Given the description of an element on the screen output the (x, y) to click on. 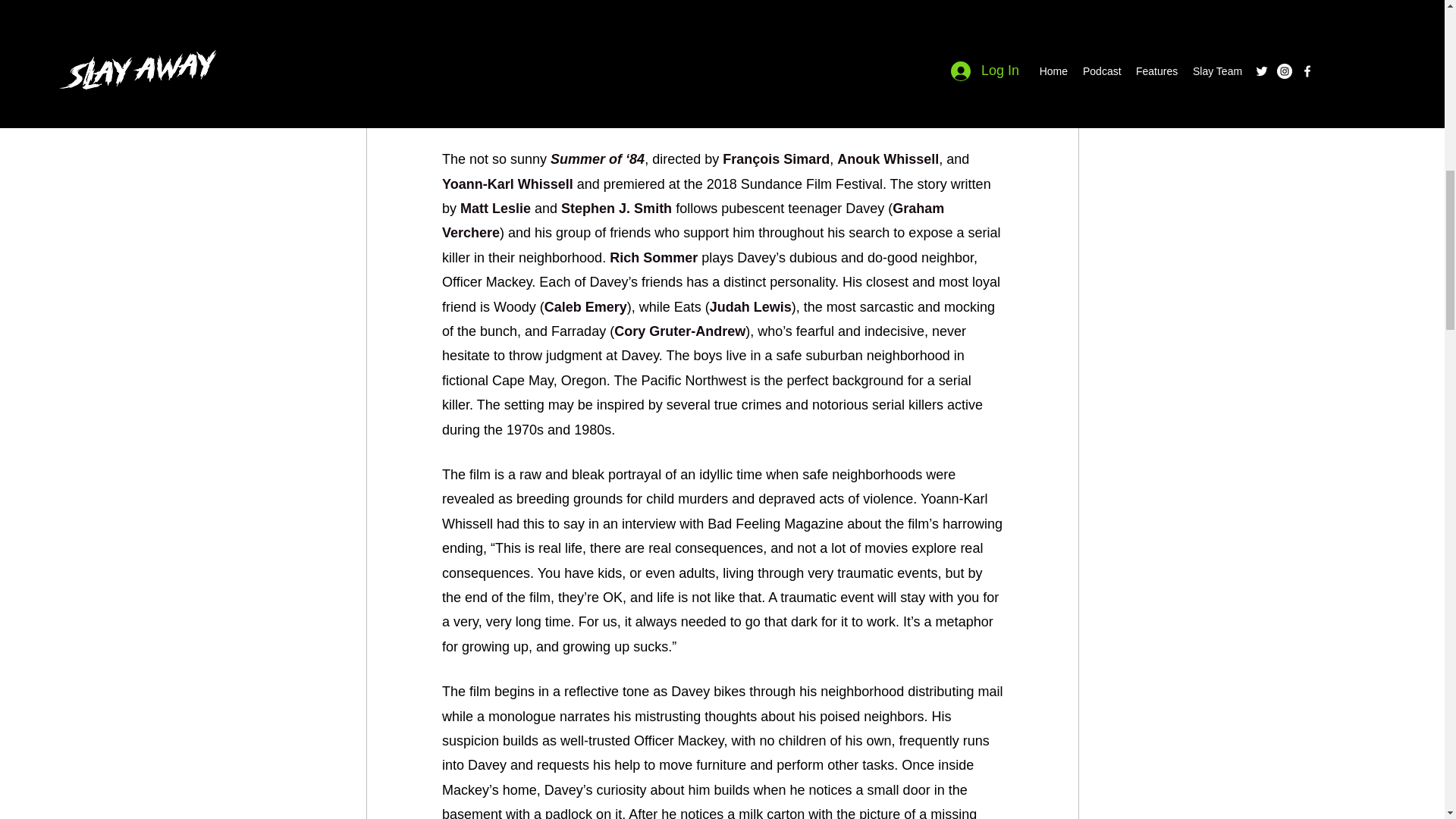
Matt Leslie (495, 208)
Yoann-Karl Whissell (506, 183)
Anouk Whissell (888, 159)
Caleb Emery (584, 306)
Rich Sommer (653, 257)
Graham Verchere (694, 220)
Judah Lewis (749, 306)
Stephen J. Smith (615, 208)
